Given the description of an element on the screen output the (x, y) to click on. 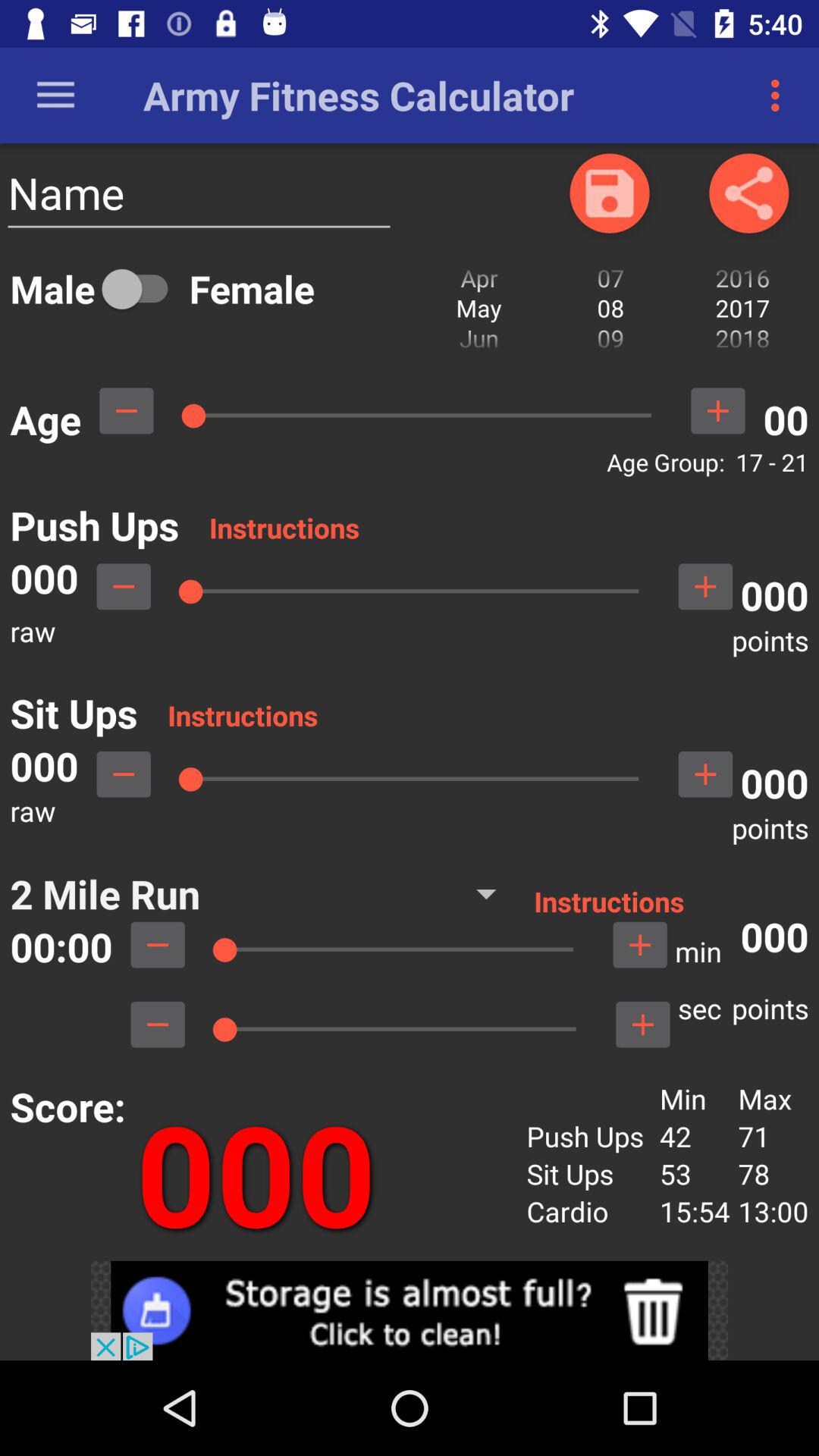
increment one (705, 774)
